Given the description of an element on the screen output the (x, y) to click on. 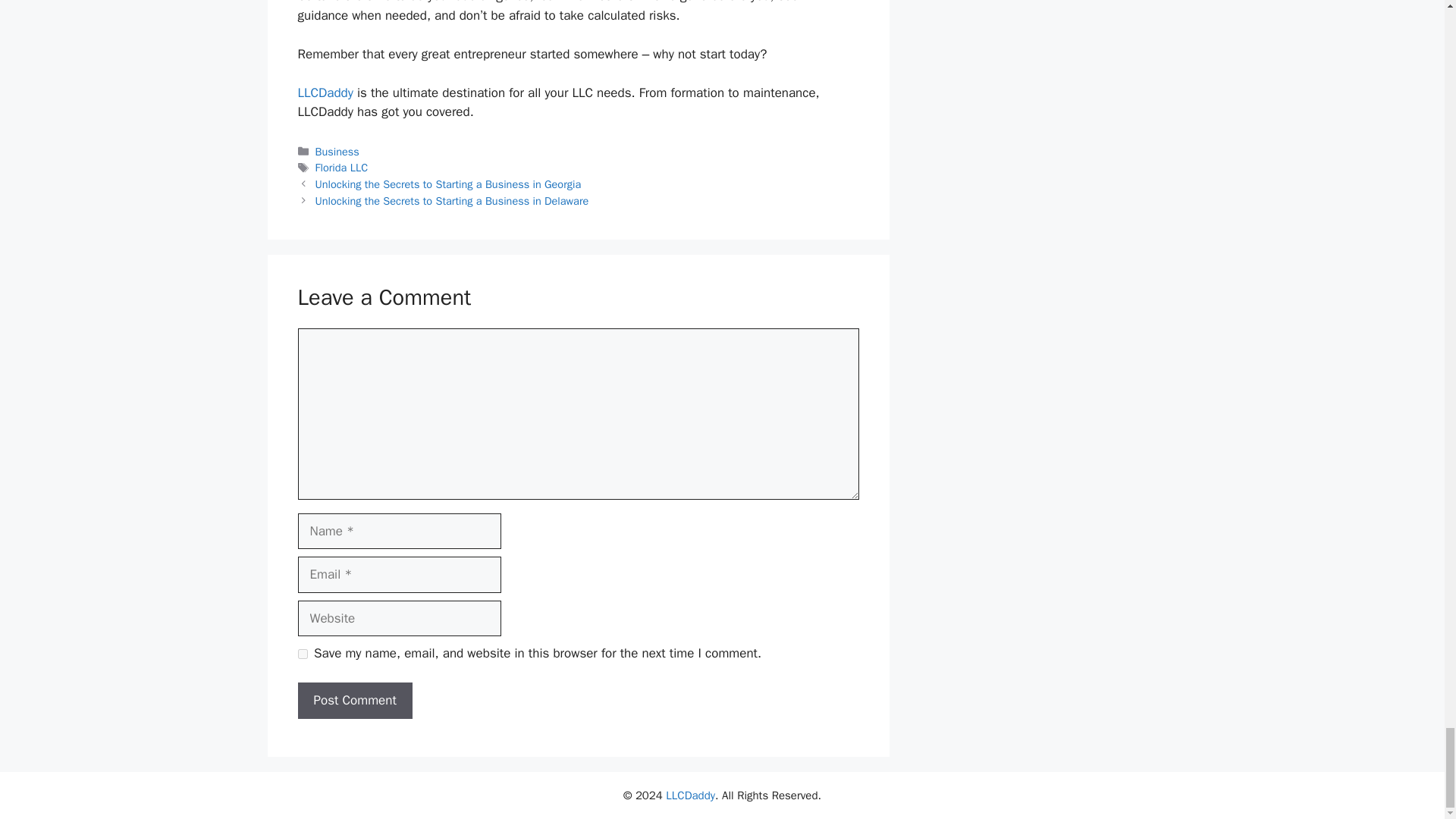
Unlocking the Secrets to Starting a Business in Delaware (452, 201)
LLCDaddy (324, 92)
Florida LLC (341, 167)
Unlocking the Secrets to Starting a Business in Georgia (447, 183)
Business (337, 151)
LLCDaddy (324, 92)
Post Comment (354, 700)
yes (302, 654)
